Given the description of an element on the screen output the (x, y) to click on. 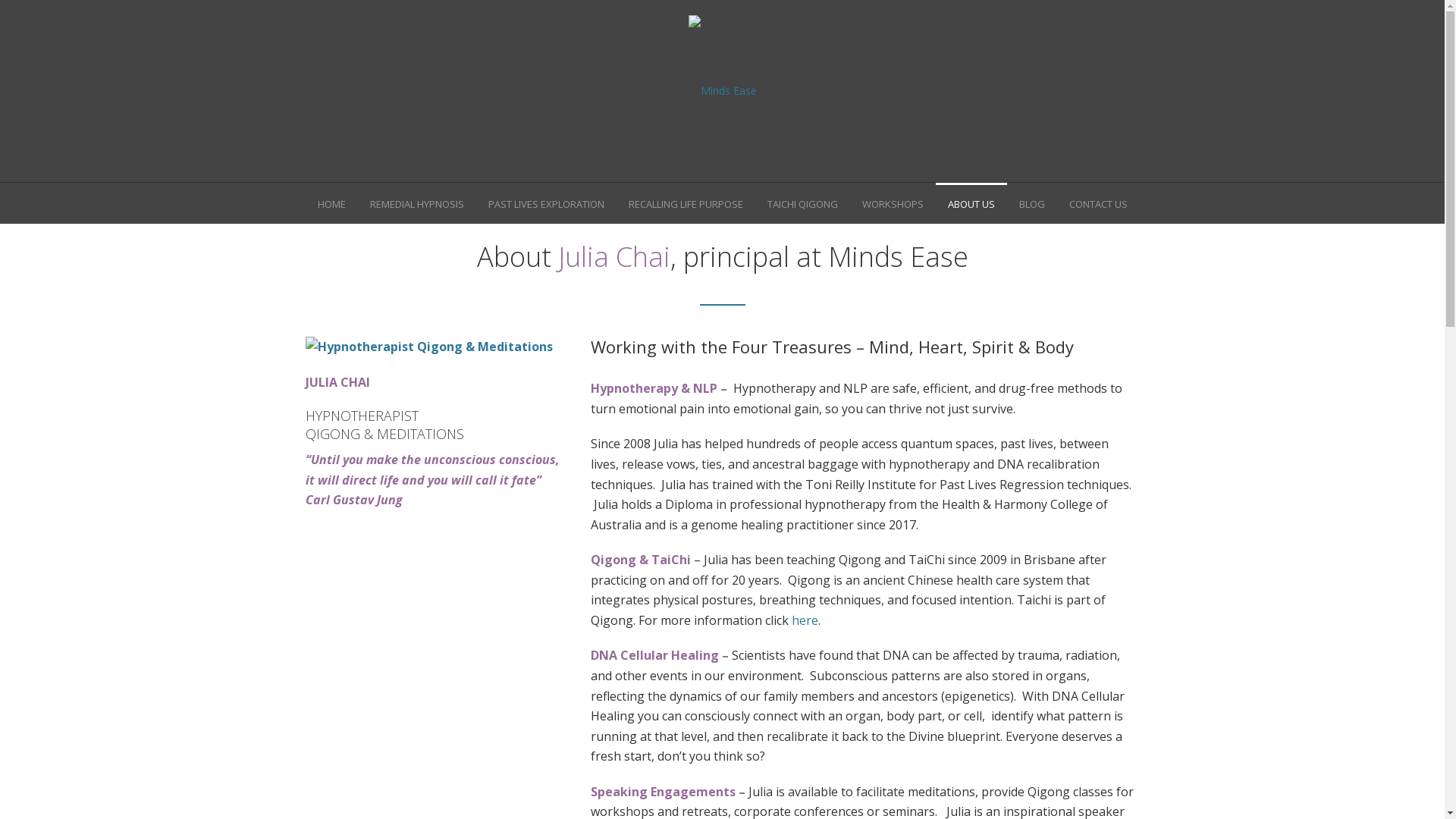
PAST LIVES EXPLORATION Element type: text (546, 202)
RECALLING LIFE PURPOSE Element type: text (684, 202)
Minds Ease Element type: hover (722, 90)
TAICHI QIGONG Element type: text (802, 202)
BLOG Element type: text (1032, 202)
REMEDIAL HYPNOSIS Element type: text (416, 202)
CONTACT US Element type: text (1098, 202)
WORKSHOPS Element type: text (892, 202)
HOME Element type: text (330, 202)
here Element type: text (804, 619)
ABOUT US Element type: text (971, 202)
